Given the description of an element on the screen output the (x, y) to click on. 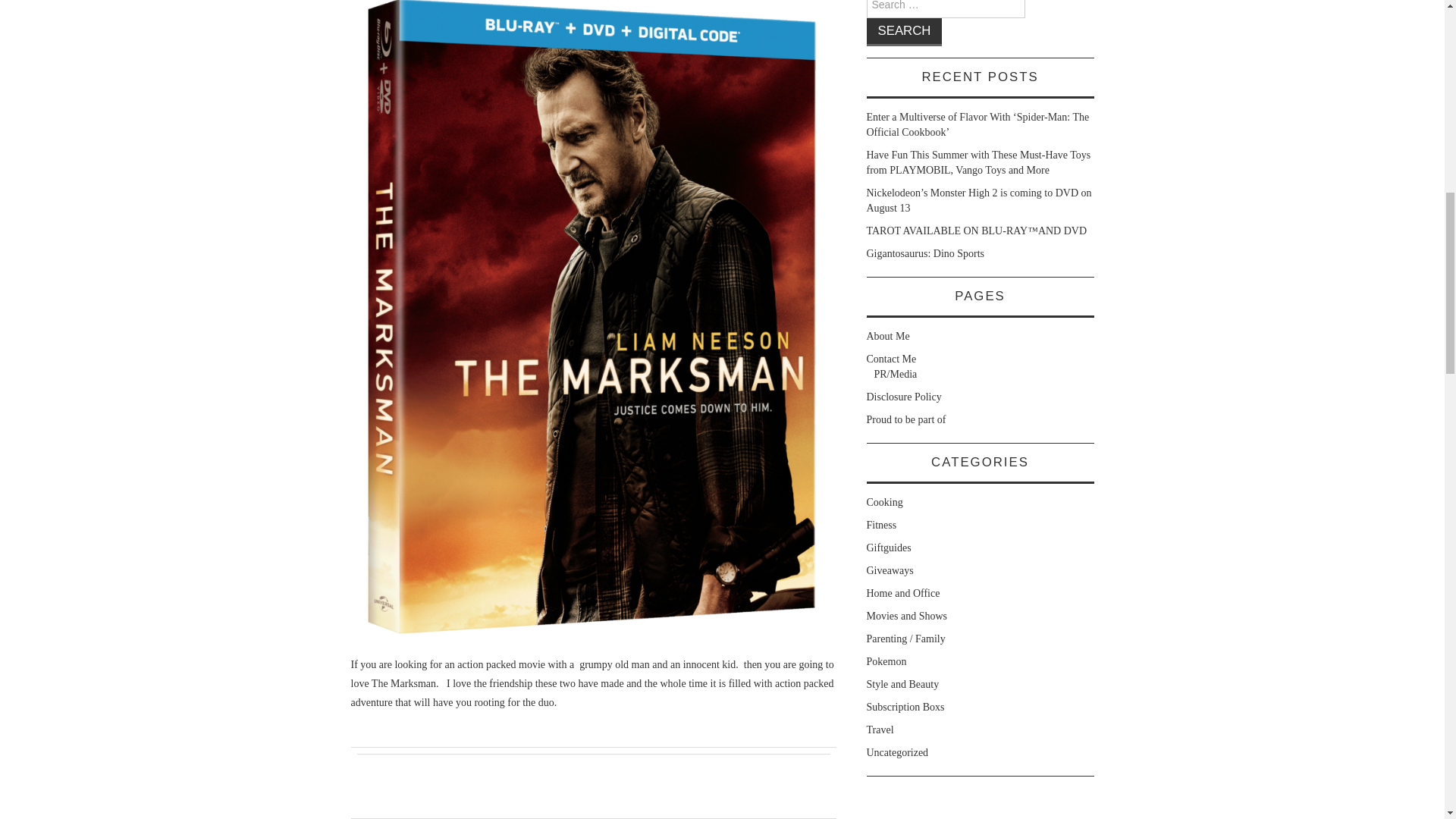
Search for: (945, 9)
Search (904, 31)
Gigantosaurus: Dino Sports (925, 253)
Search (904, 31)
Search (904, 31)
